Given the description of an element on the screen output the (x, y) to click on. 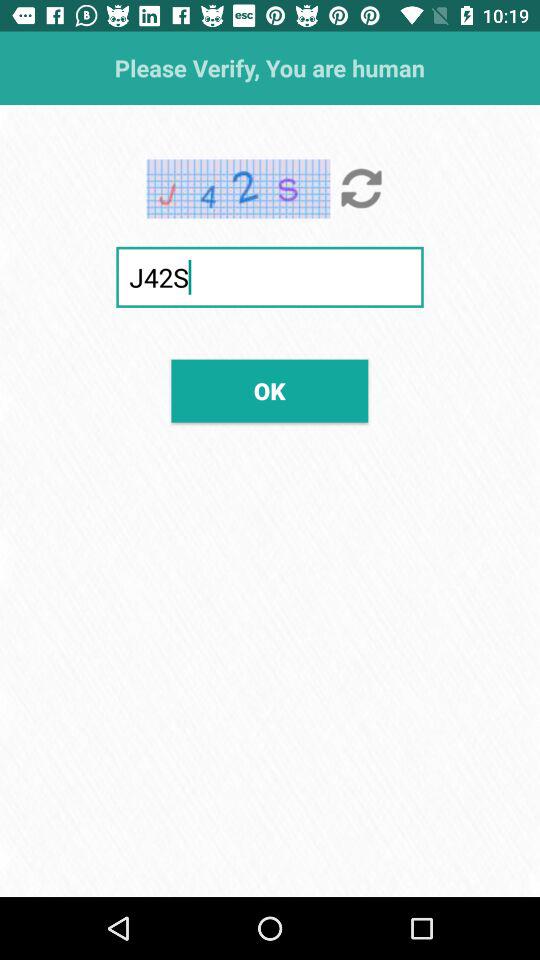
select the ok item (269, 390)
